Given the description of an element on the screen output the (x, y) to click on. 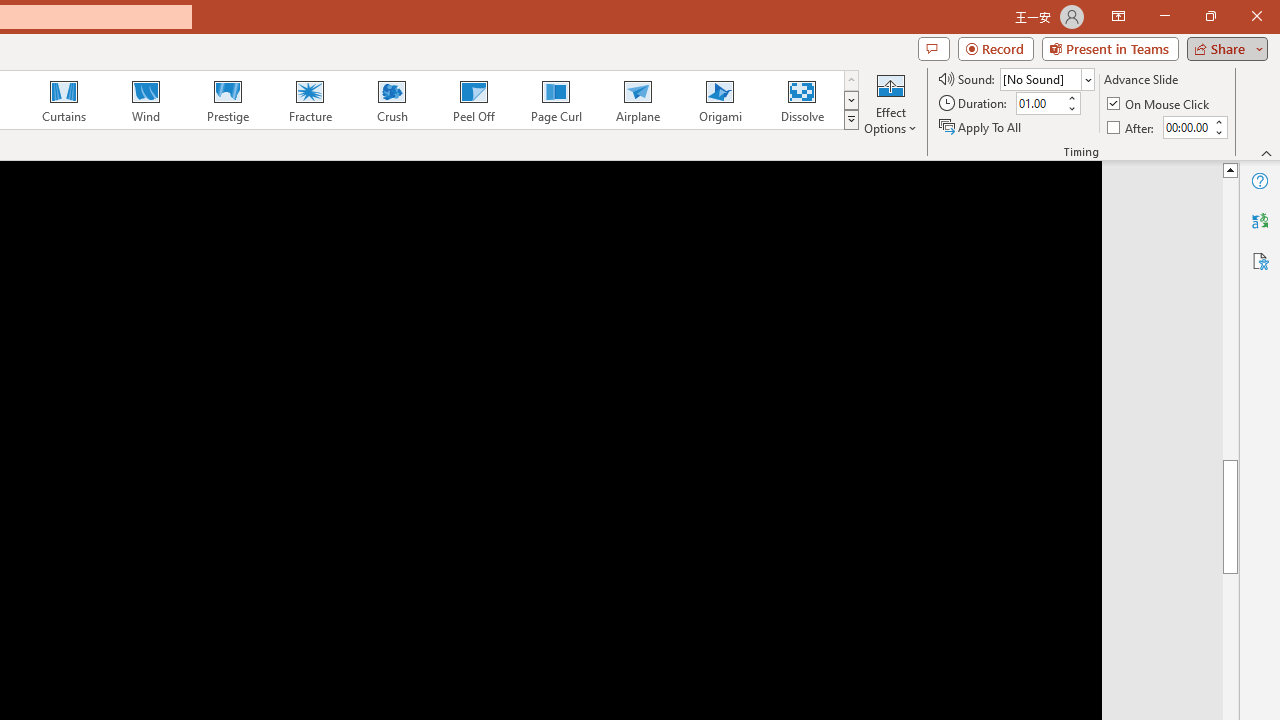
Curtains (63, 100)
Dissolve (802, 100)
Origami (719, 100)
Transition Effects (850, 120)
After (1131, 126)
